Given the description of an element on the screen output the (x, y) to click on. 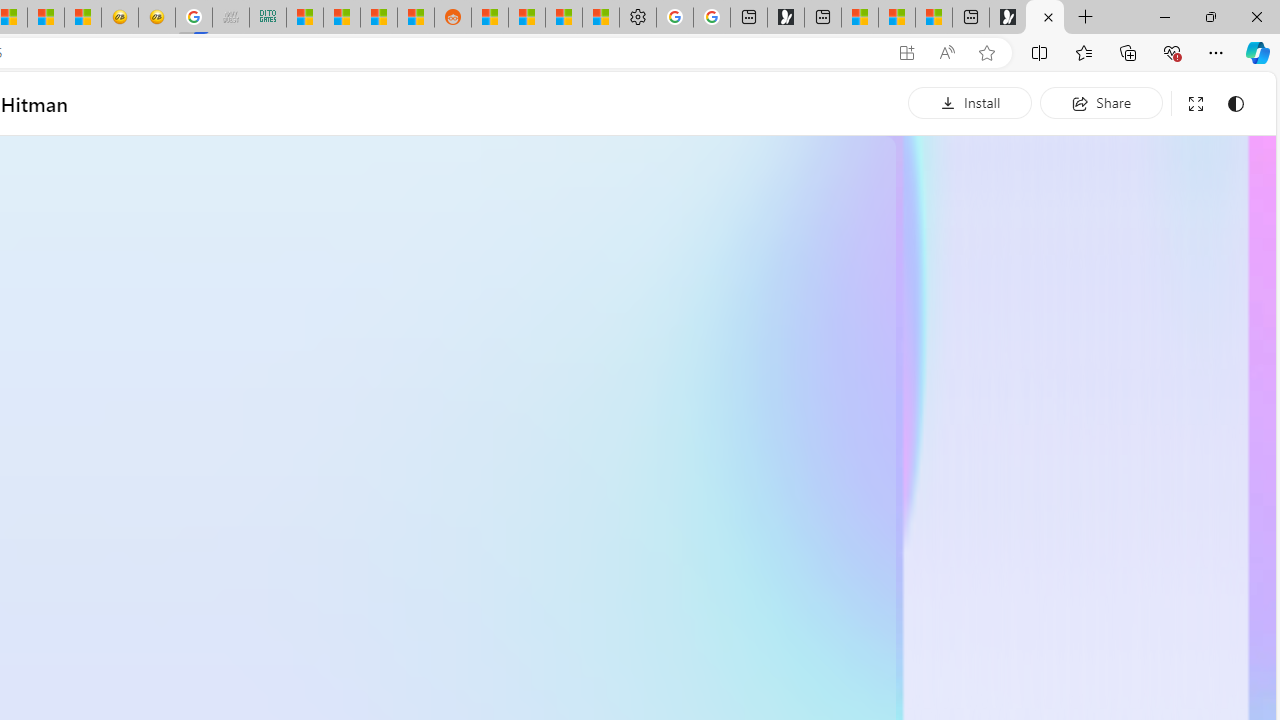
App available. Install Hunter Hitman (906, 53)
Read aloud this page (Ctrl+Shift+U) (946, 53)
Play Free Online Games | Games from Microsoft Start (1007, 17)
